Given the description of an element on the screen output the (x, y) to click on. 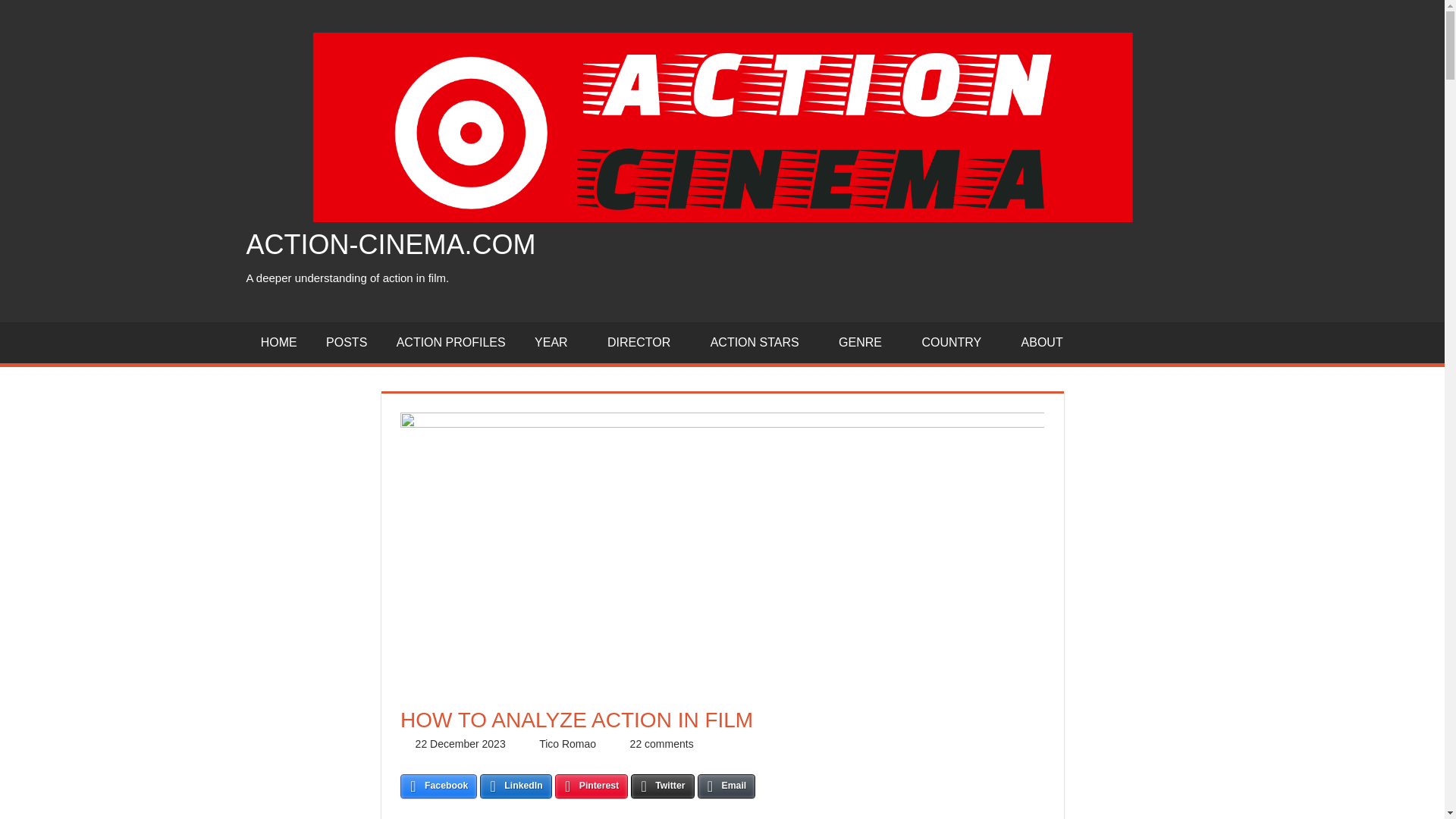
Share this article on Facebook (438, 785)
ACTION PROFILES (450, 342)
Share this article on Twitter (662, 785)
Share an image of this article on Pinterest (591, 785)
POSTS (346, 342)
Share this article on LinkedIn (515, 785)
ACTION-CINEMA.COM (390, 244)
21:56 (459, 743)
YEAR (555, 342)
View all posts by Tico Romao (566, 743)
